Given the description of an element on the screen output the (x, y) to click on. 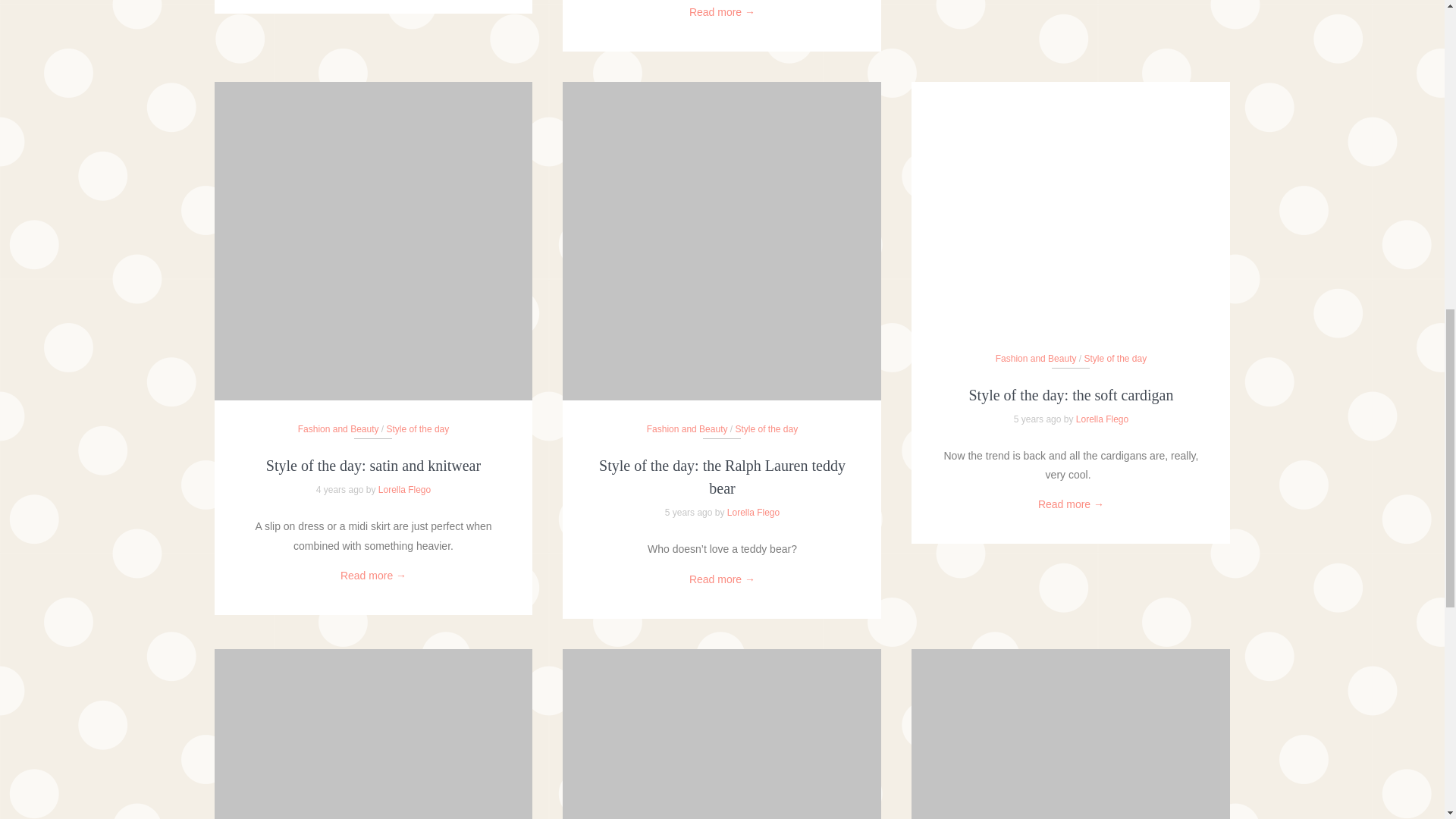
Style of the day: the Ralph Lauren teddy bear (721, 476)
Style of the day: the soft cardigan (1071, 394)
Style of the day: satin and knitwear (373, 465)
